Given the description of an element on the screen output the (x, y) to click on. 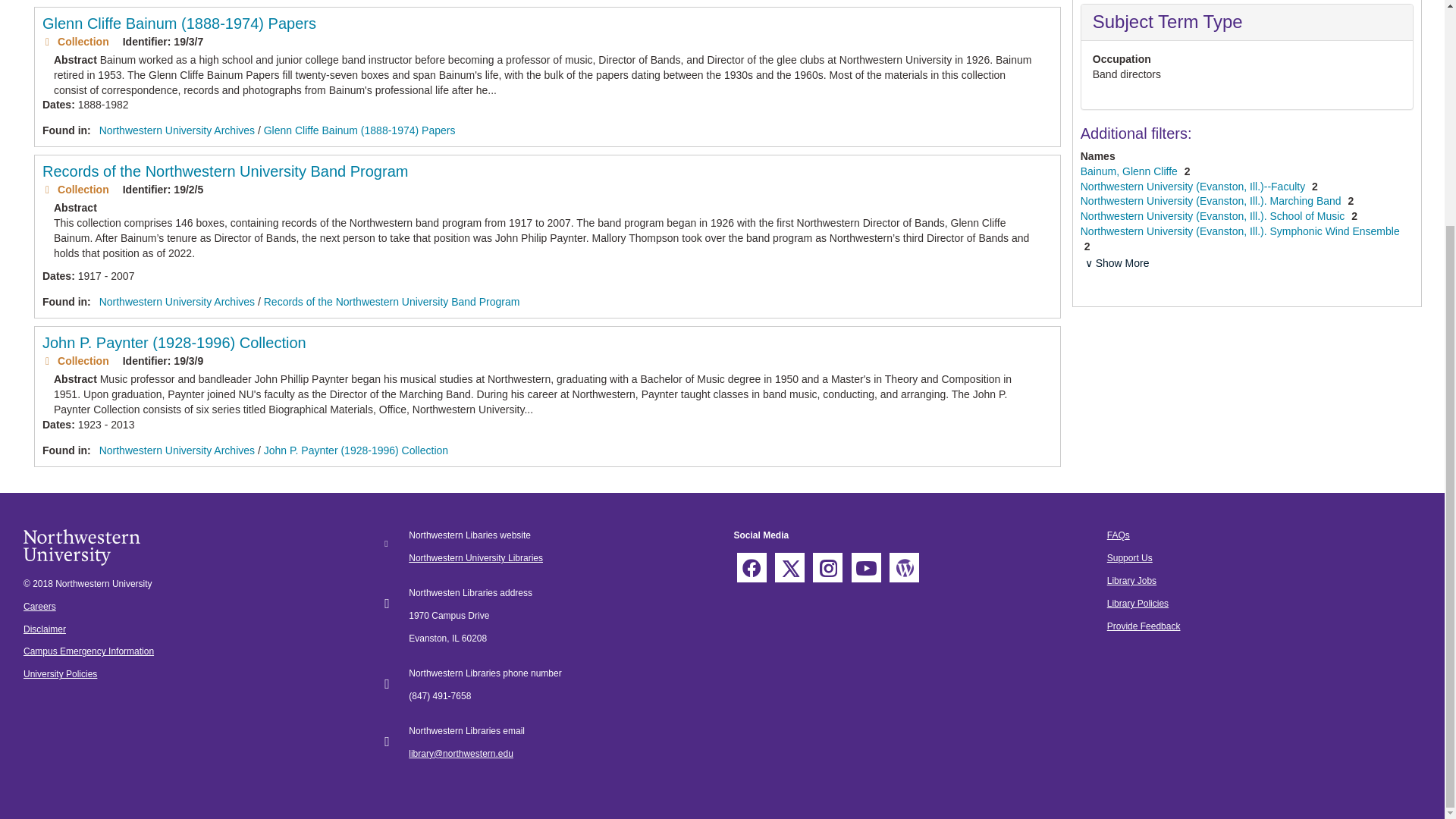
Northwestern University Archives (176, 301)
translation missing: en.dates (56, 275)
translation missing: en.dates (56, 104)
Subject Term Type (1168, 21)
Northwestern University Archives (176, 130)
Northwestern University Archives (176, 450)
Filter By 'Bainum, Glenn Cliffe' (1130, 171)
Bainum, Glenn Cliffe (1130, 171)
Records of the Northwestern University Band Program (391, 301)
Records of the Northwestern University Band Program (224, 170)
translation missing: en.dates (56, 424)
